Given the description of an element on the screen output the (x, y) to click on. 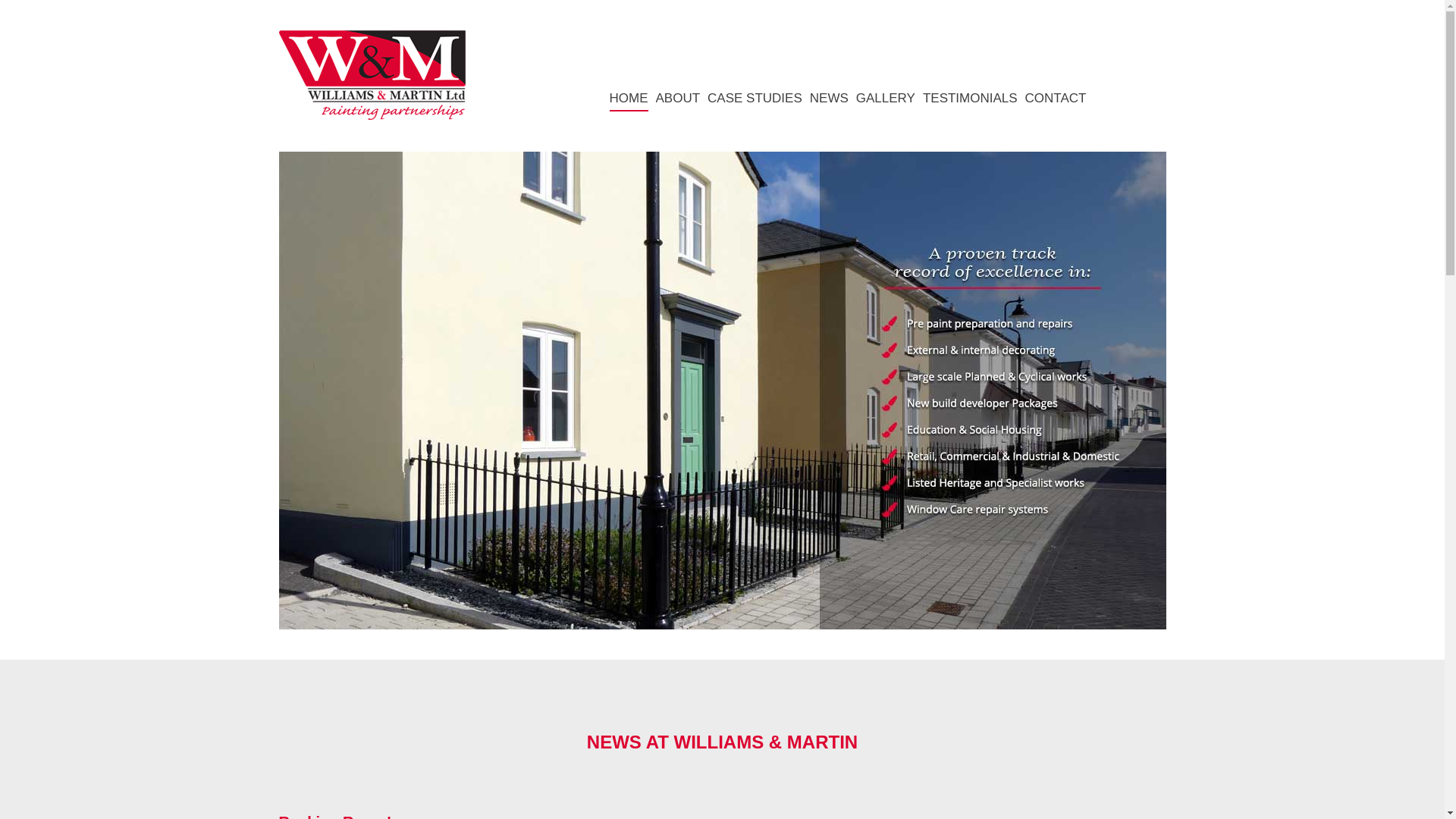
Ranking Roger! (335, 816)
CONTACT (1055, 98)
TESTIMONIALS (970, 98)
HOME (628, 98)
NEWS (828, 98)
GALLERY (885, 98)
ABOUT (678, 98)
CASE STUDIES (754, 98)
